Given the description of an element on the screen output the (x, y) to click on. 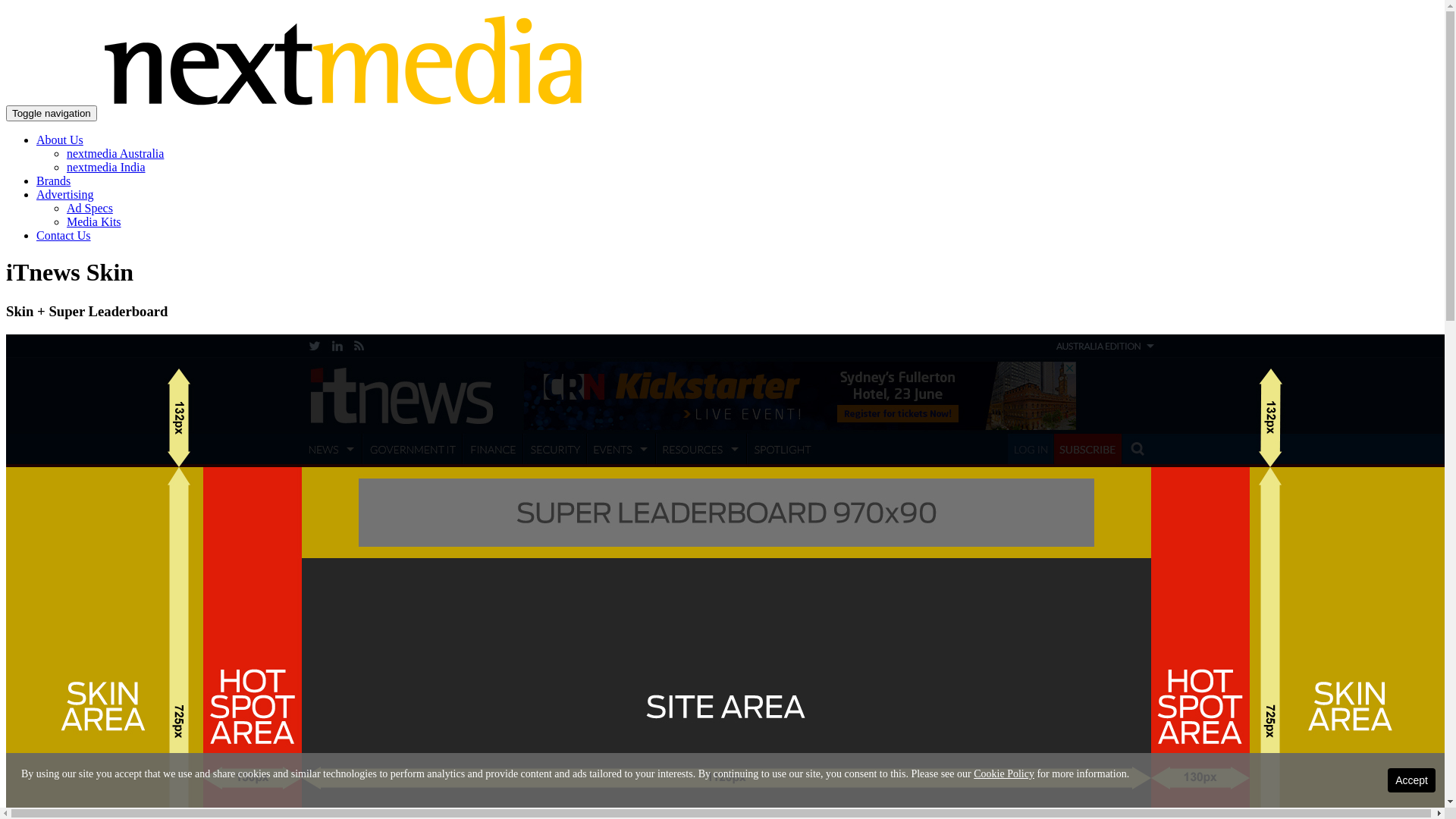
Ad Specs Element type: text (89, 207)
About Us Element type: text (59, 139)
Brands Element type: text (53, 180)
Cookie Policy Element type: text (1003, 773)
Accept Element type: text (1411, 780)
Toggle navigation Element type: text (51, 113)
nextmedia India Element type: text (105, 166)
Advertising Element type: text (65, 194)
Media Kits Element type: text (93, 221)
Contact Us Element type: text (63, 235)
nextmedia Australia Element type: text (114, 153)
